Given the description of an element on the screen output the (x, y) to click on. 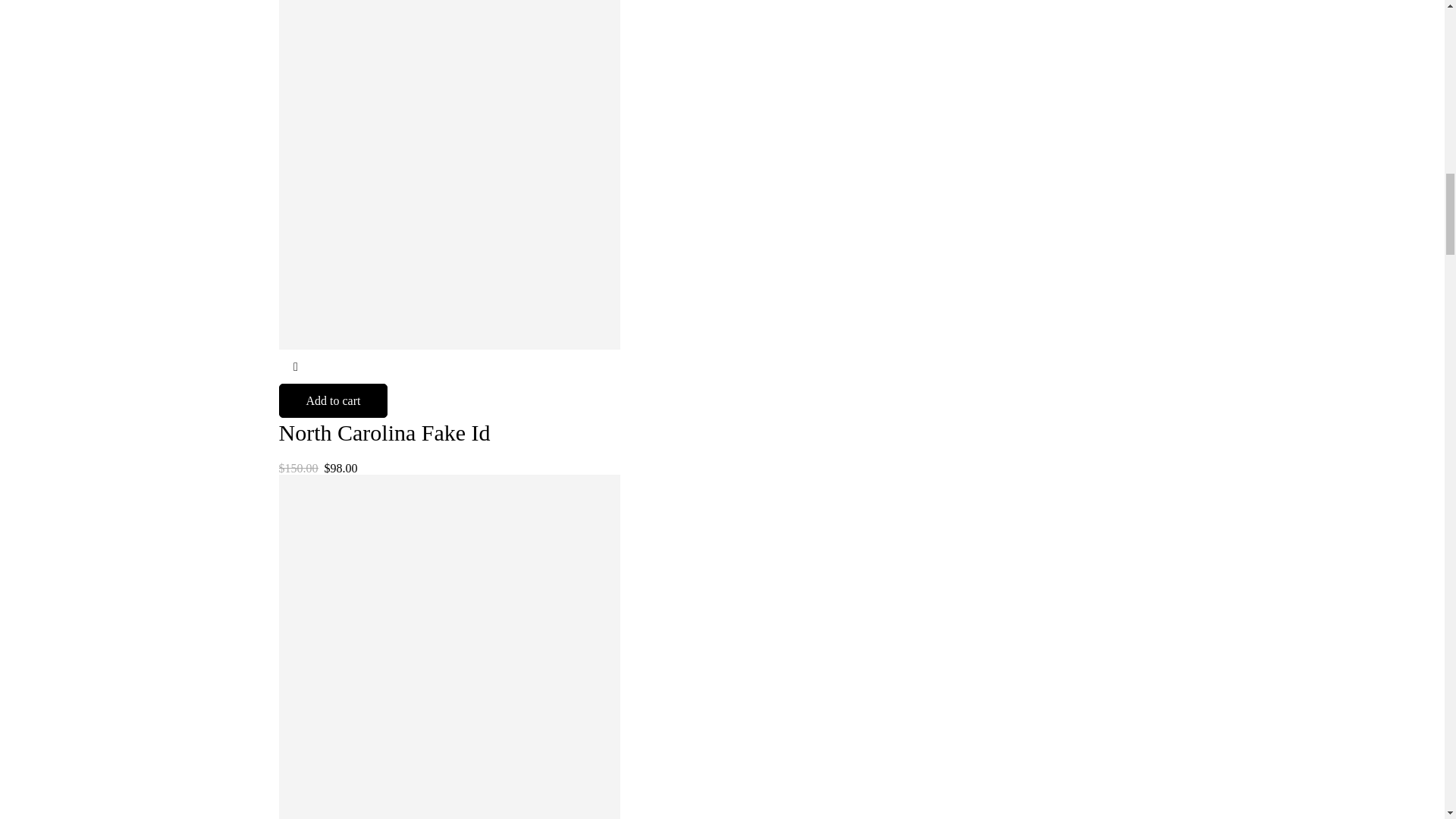
Quick view (296, 366)
North Carolina Fake Id (384, 432)
Add to cart (333, 400)
